Given the description of an element on the screen output the (x, y) to click on. 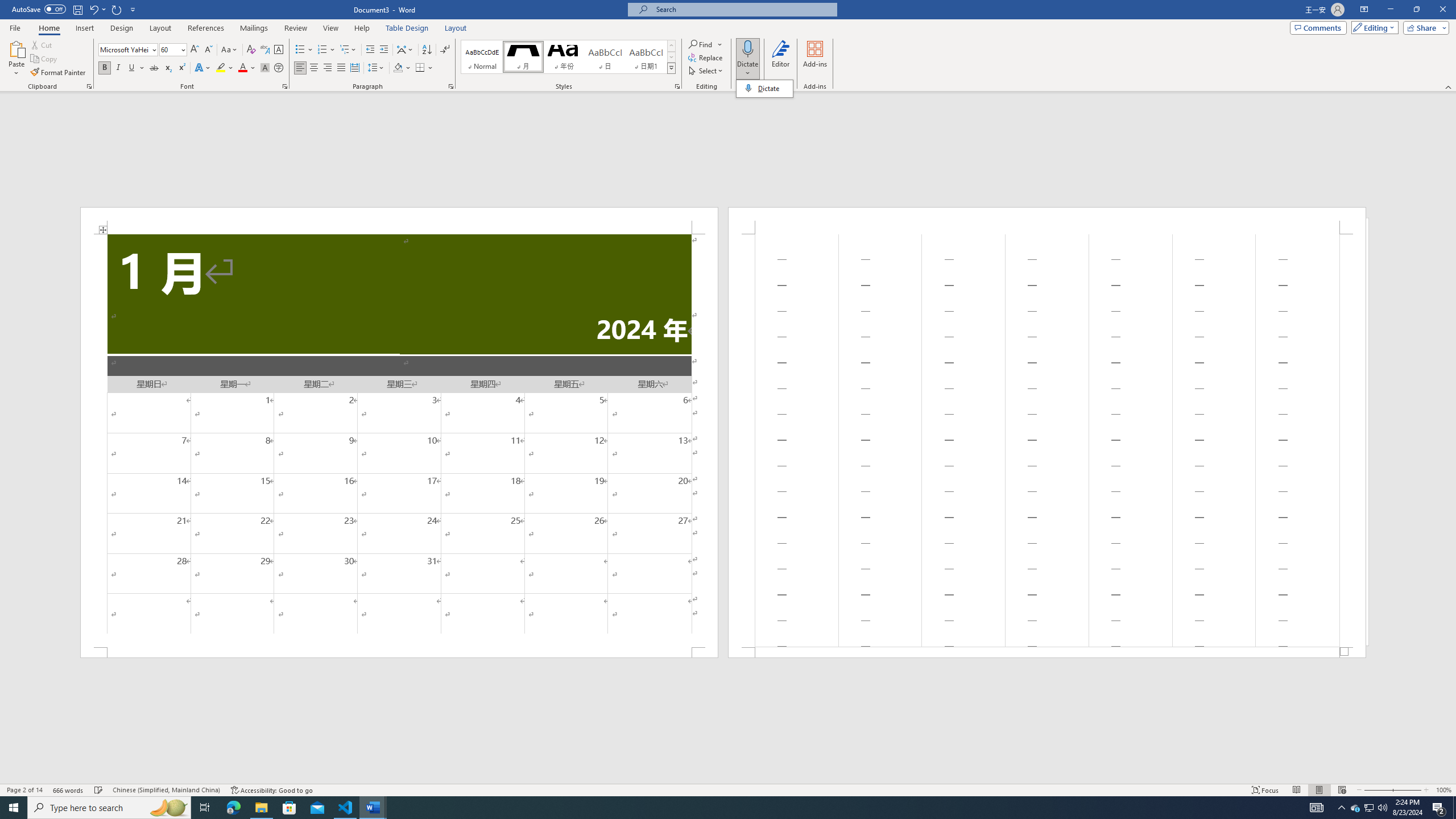
Print Layout (1318, 790)
&Dictate (764, 88)
Class: MsoCommandBar (728, 789)
Q2790: 100% (1382, 807)
Accessibility Checker Accessibility: Good to go (271, 790)
Distributed (354, 67)
Footer -Section 1- (1046, 652)
Class: NetUIScrollBar (728, 778)
References (205, 28)
Design (122, 28)
Dictate (747, 48)
Microsoft Store (289, 807)
Grow Font (193, 49)
Running applications (717, 807)
Microsoft Edge (233, 807)
